Given the description of an element on the screen output the (x, y) to click on. 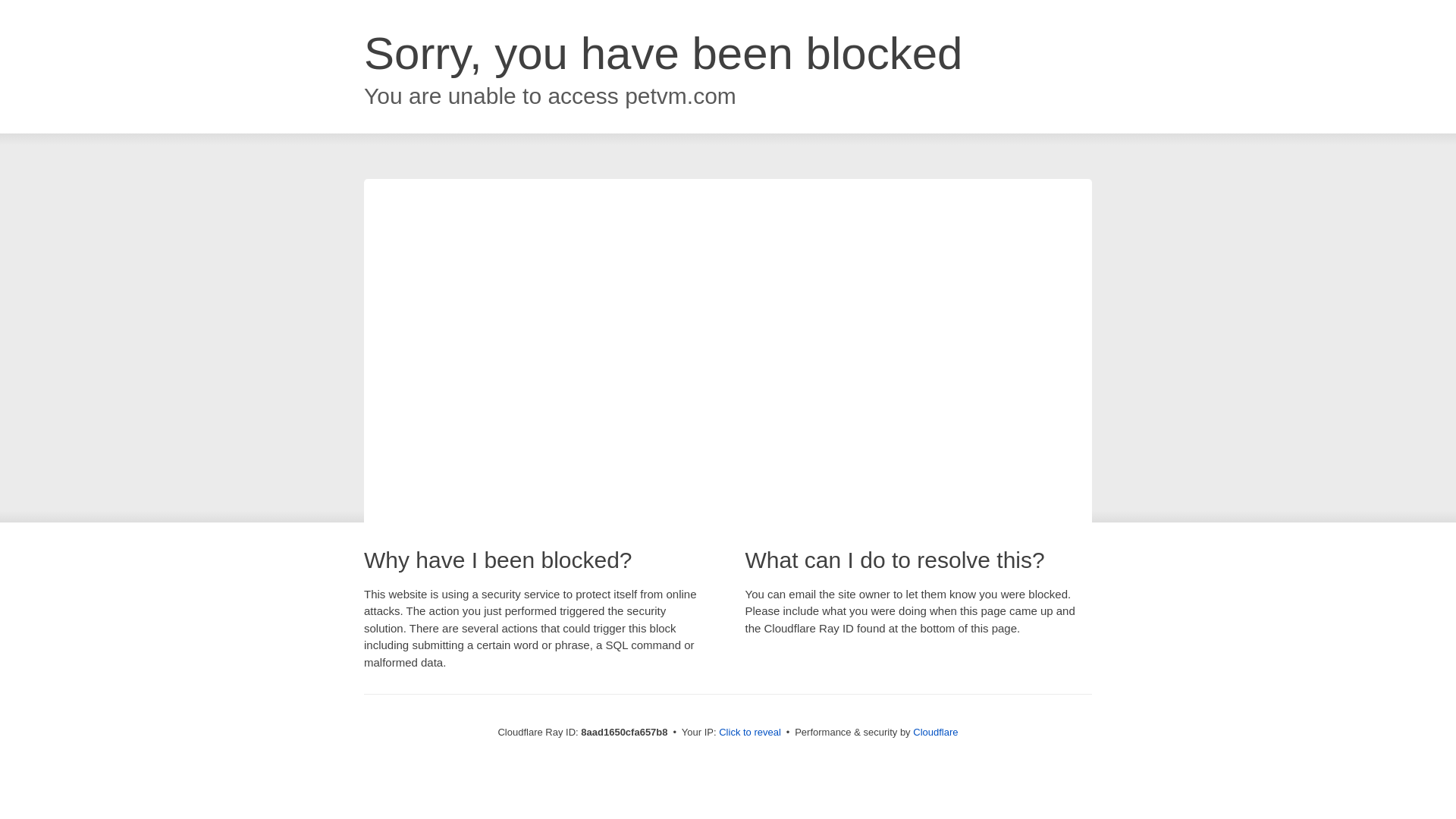
Cloudflare (935, 731)
Click to reveal (749, 732)
